Given the description of an element on the screen output the (x, y) to click on. 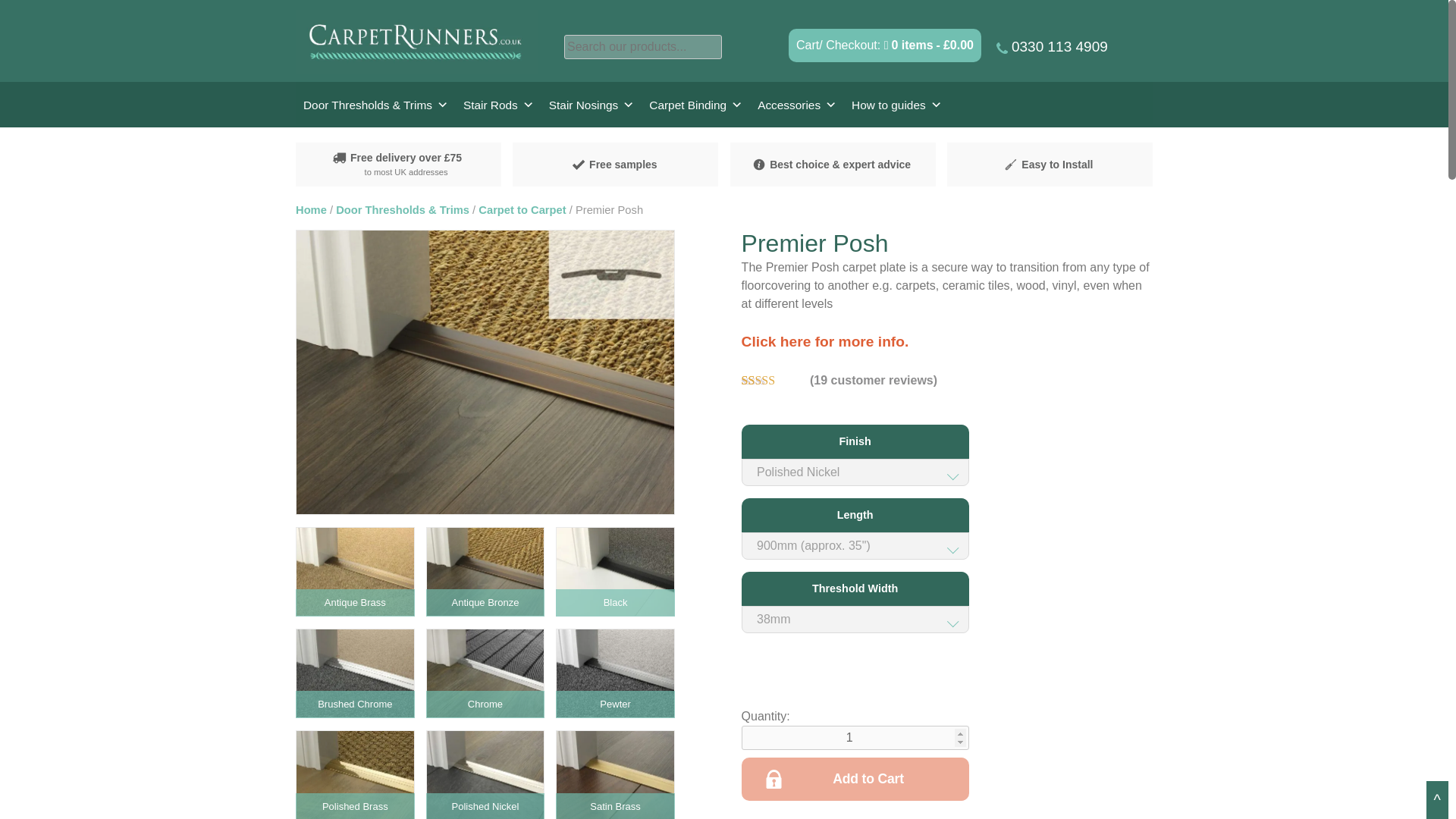
1 (855, 737)
Stair Rods (498, 105)
Start shopping (928, 44)
